Given the description of an element on the screen output the (x, y) to click on. 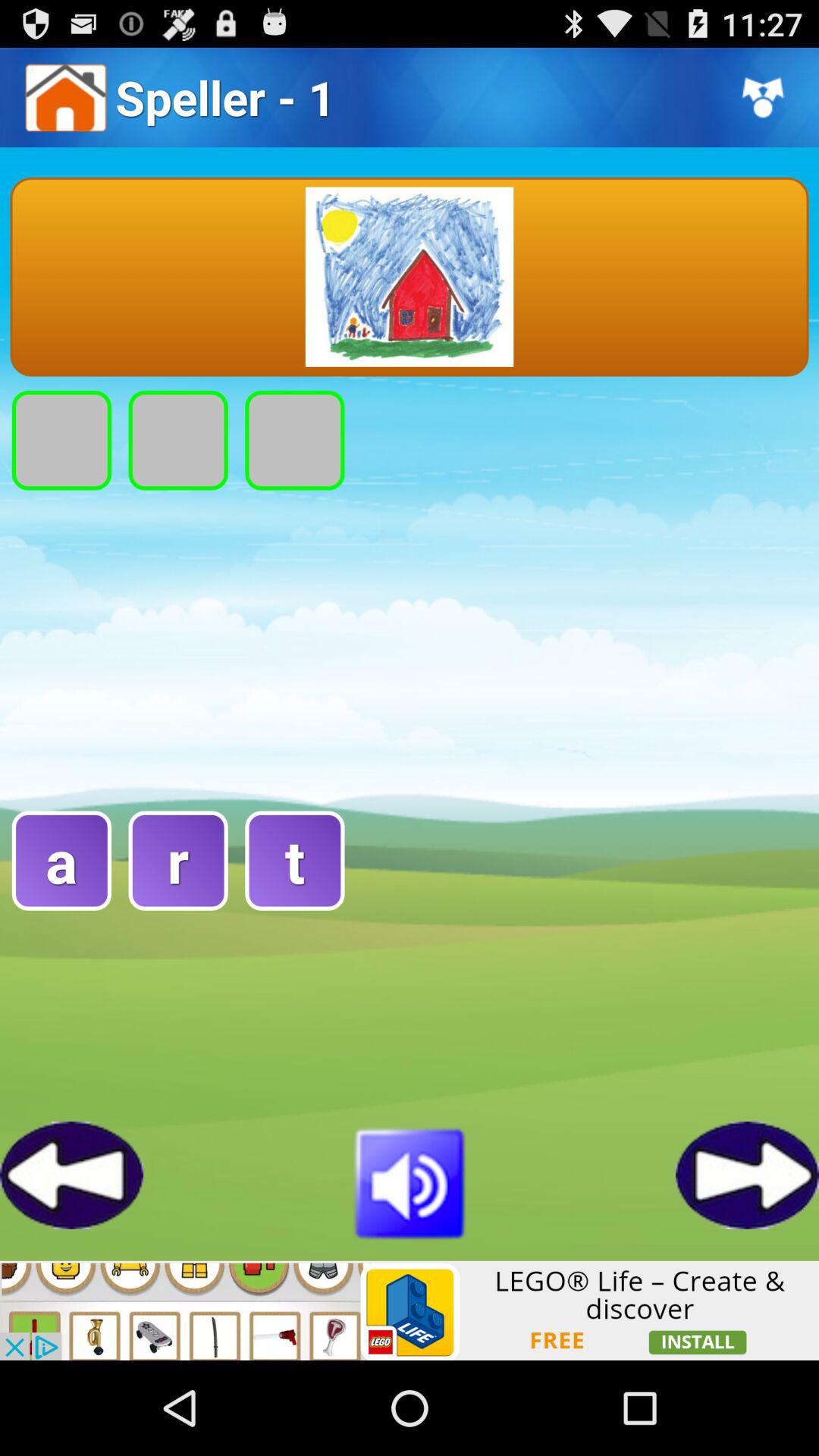
click button with home drawing on it (409, 277)
icon left to the header text (65, 97)
select the arrow on bottom right (747, 1174)
the icon at top right corner of the page (763, 97)
click on volume buttton (409, 1181)
